Given the description of an element on the screen output the (x, y) to click on. 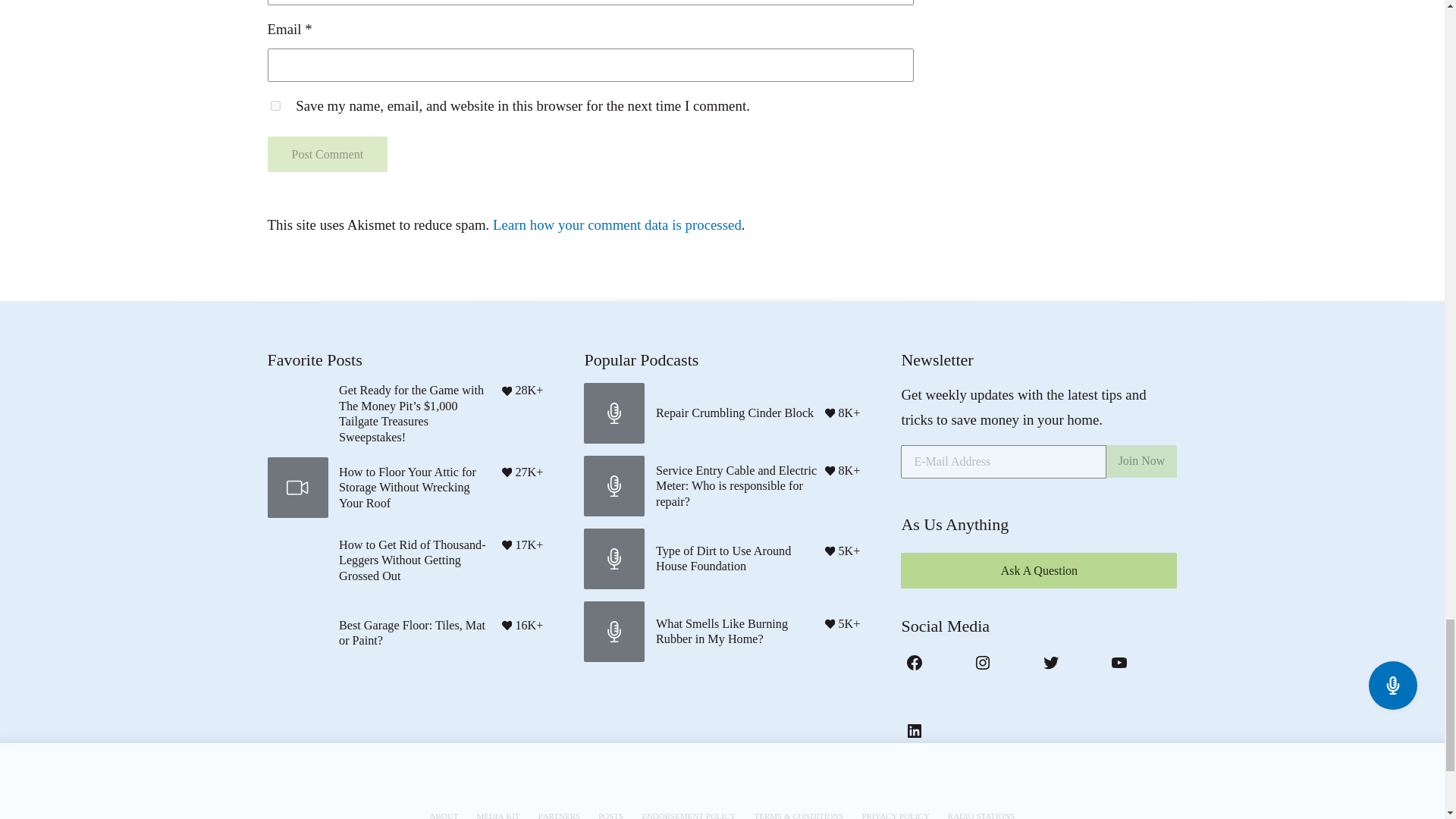
Post Comment (326, 153)
yes (274, 105)
Join Now (1141, 460)
